Given the description of an element on the screen output the (x, y) to click on. 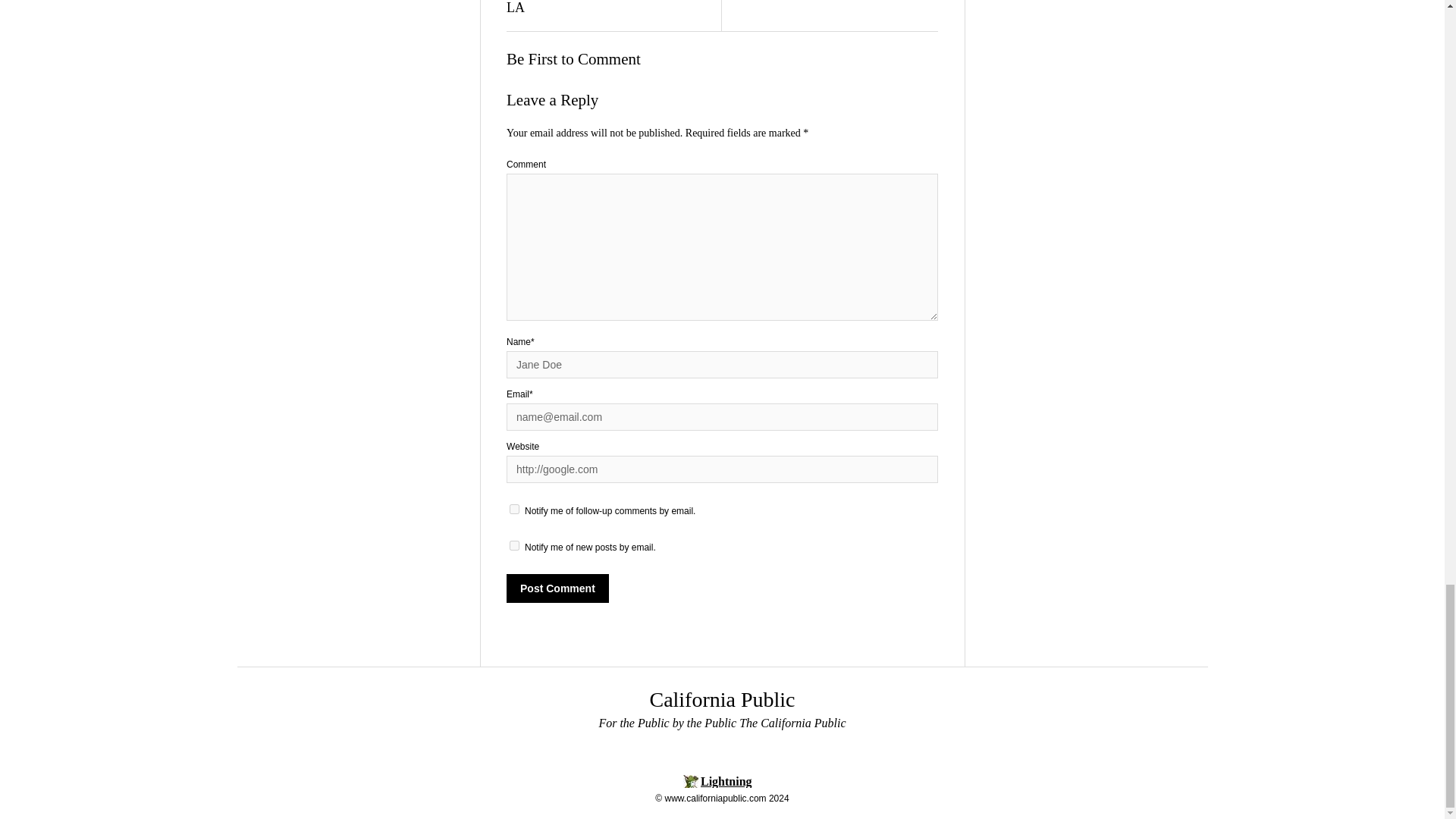
subscribe (514, 545)
Post Comment (557, 588)
subscribe (514, 509)
